Given the description of an element on the screen output the (x, y) to click on. 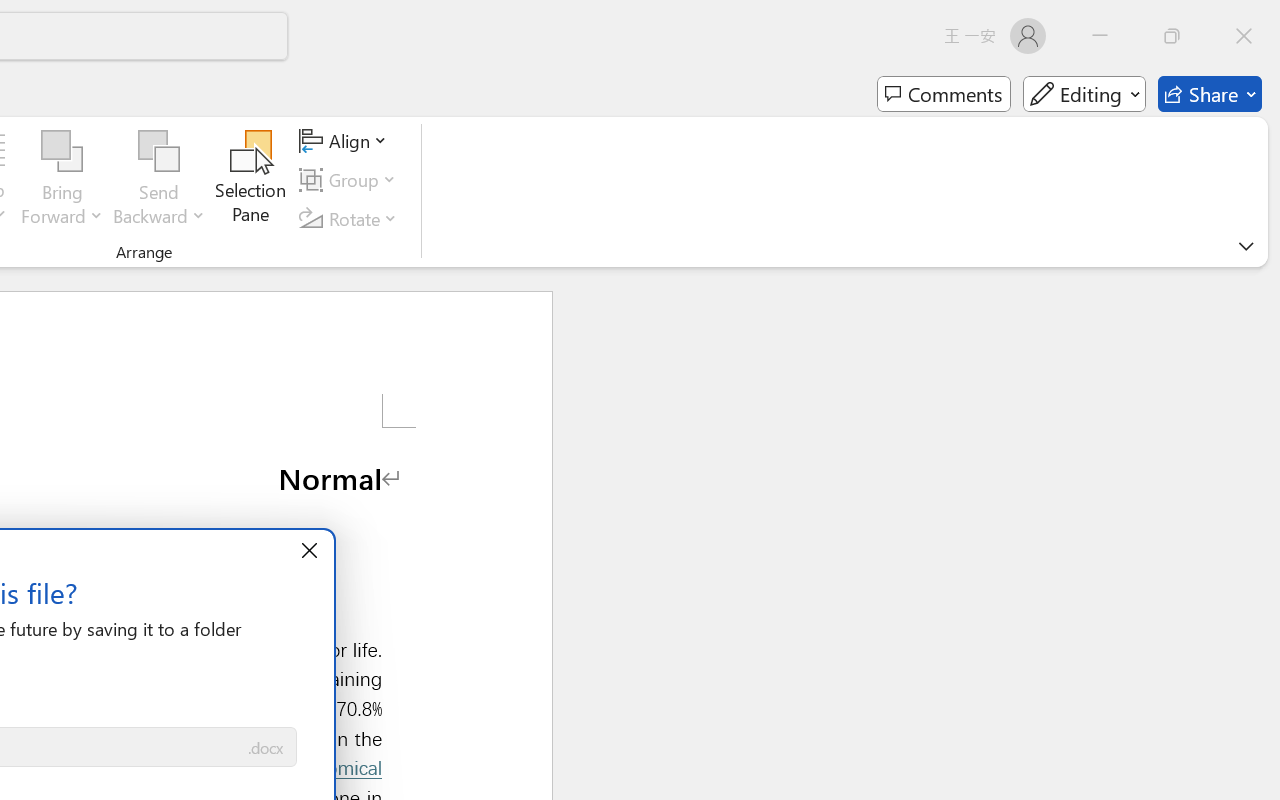
Bring Forward (62, 179)
Save as type (265, 747)
